Given the description of an element on the screen output the (x, y) to click on. 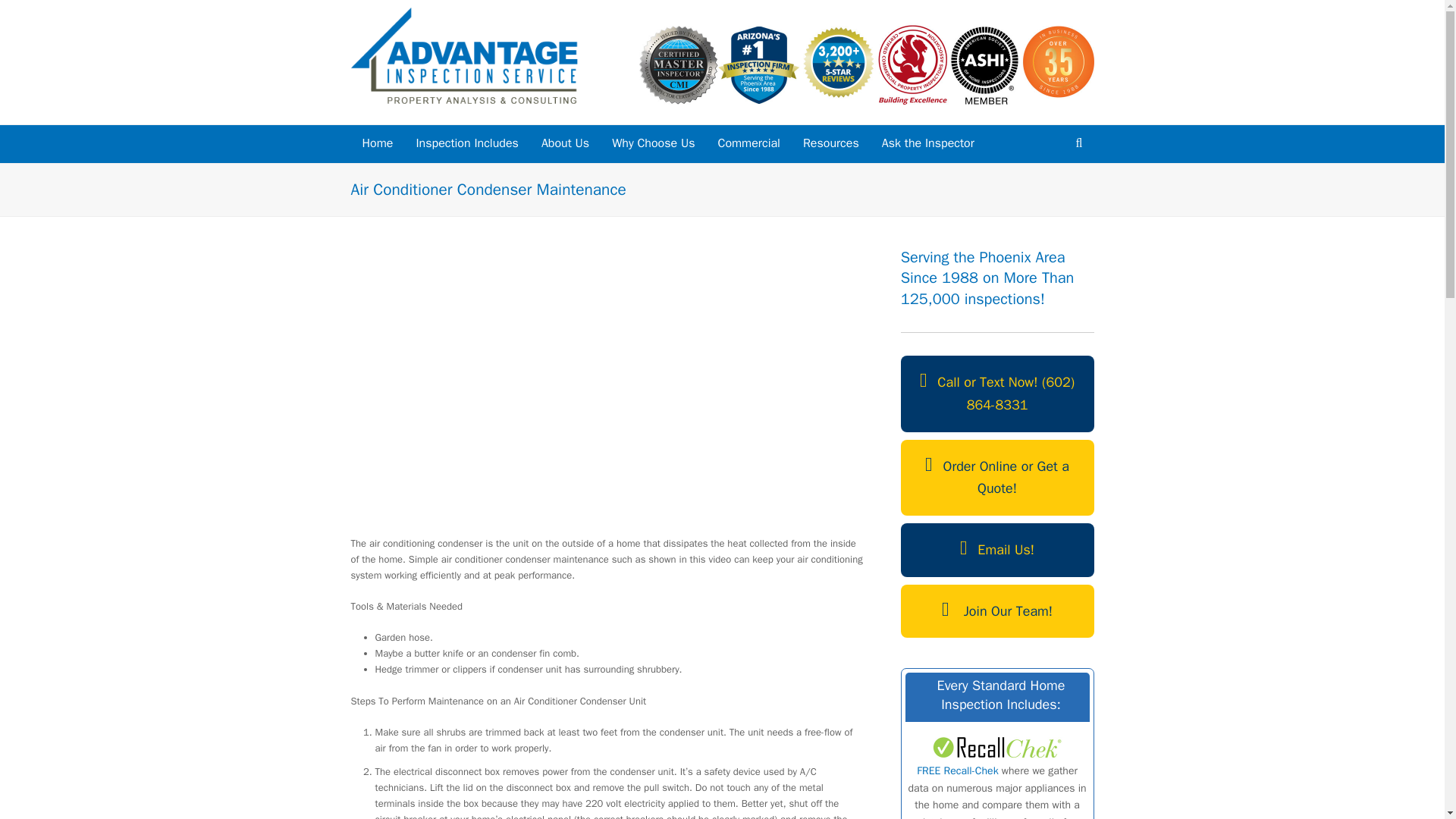
Order Online or Get a Quote! (997, 477)
Email Us! (997, 550)
COMMERCIAL INSPECTION (748, 143)
Resources (831, 143)
Join Our Team! (997, 611)
WHY CHOOSE US (652, 143)
OUR TEAM (564, 143)
Home (377, 143)
Ask the Inspector (927, 143)
About Us (564, 143)
